Given the description of an element on the screen output the (x, y) to click on. 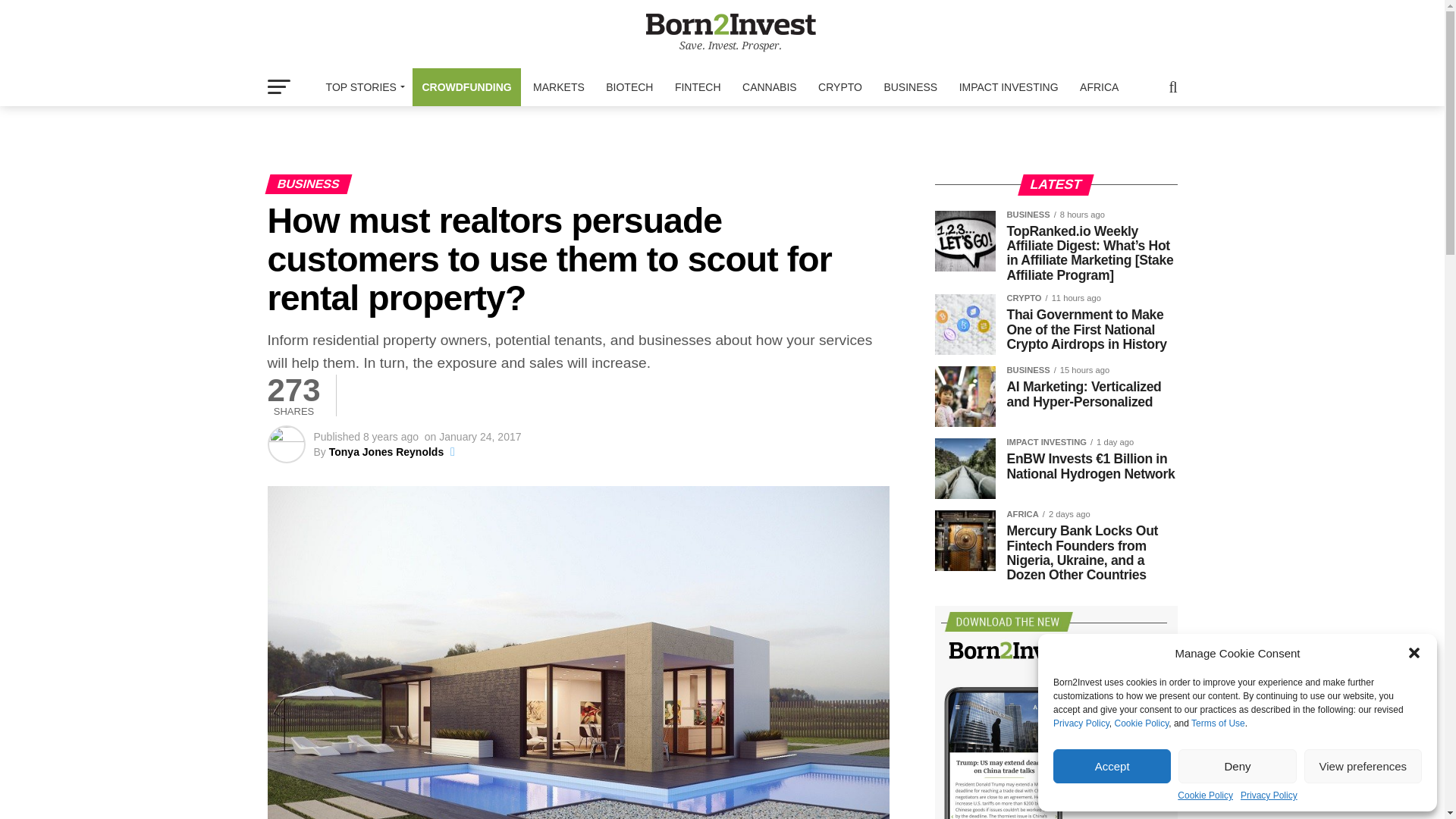
Accept (1111, 765)
Terms of Use (1217, 723)
Cookie Policy (1141, 723)
CROWDFUNDING (465, 86)
Deny (1236, 765)
Privacy Policy (1268, 795)
FINTECH (697, 86)
CANNABIS (769, 86)
View preferences (1363, 765)
Posts by Tonya Jones Reynolds (386, 451)
BIOTECH (629, 86)
TOP STORIES (363, 86)
Cookie Policy (1205, 795)
MARKETS (559, 86)
Privacy Policy (1080, 723)
